Given the description of an element on the screen output the (x, y) to click on. 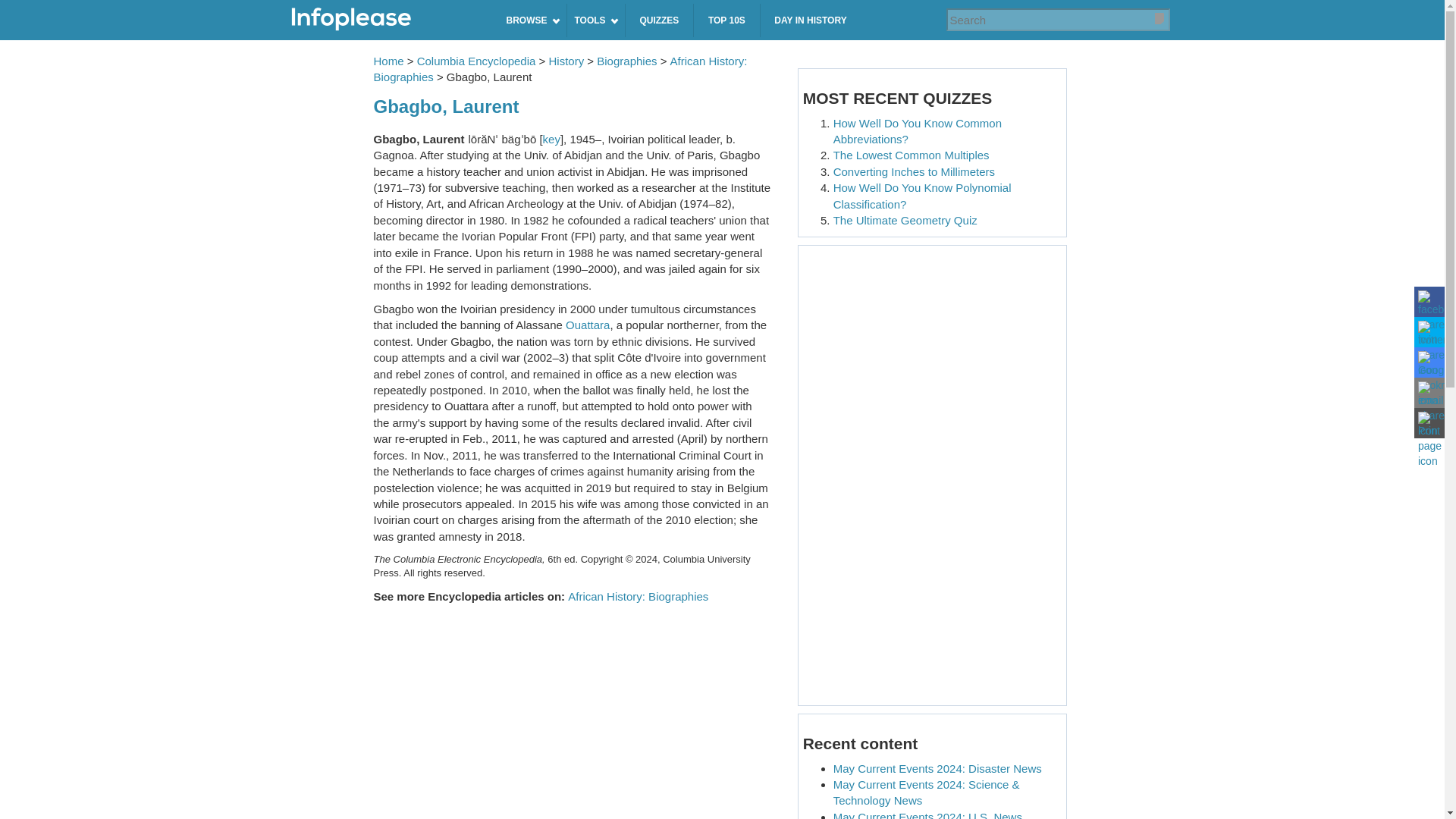
Home (386, 19)
Search (1144, 19)
